Given the description of an element on the screen output the (x, y) to click on. 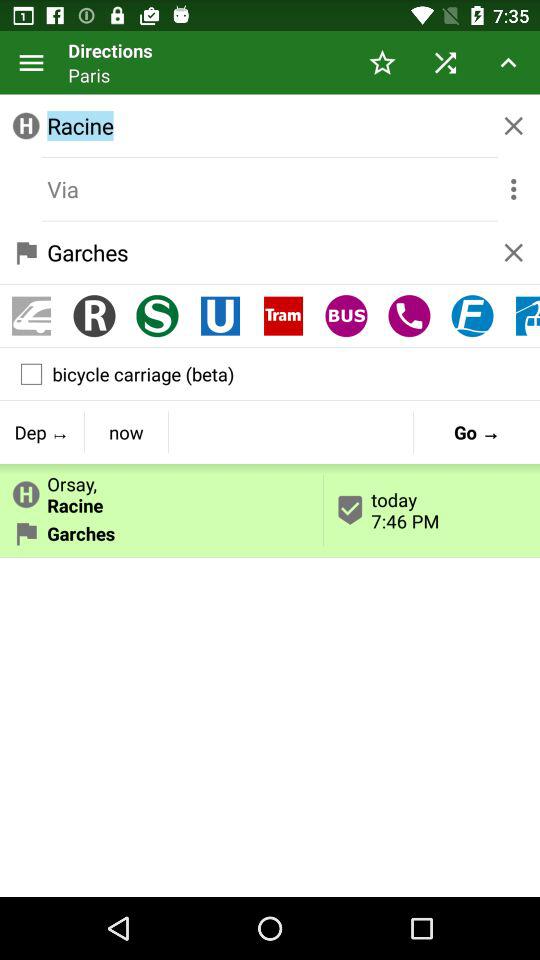
add via (270, 189)
